Given the description of an element on the screen output the (x, y) to click on. 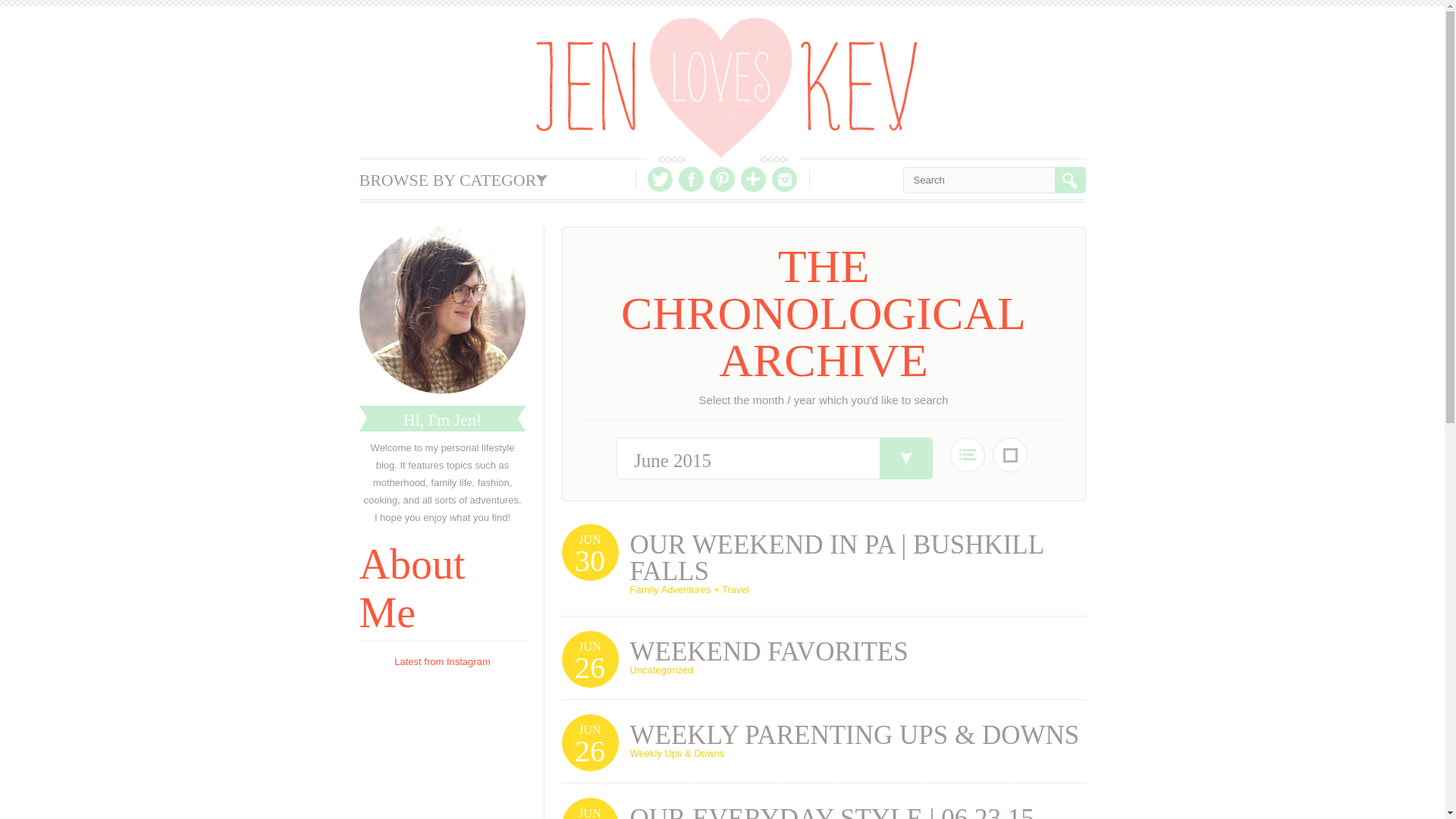
Twitter (659, 179)
Jen Loves Kev (726, 87)
search (1069, 180)
BROWSE BY CATEGORY (453, 179)
Jen Loves Kev (726, 87)
Instagram (783, 179)
Facebook (690, 179)
Pinterest (722, 179)
Bloglovin (753, 179)
search (1069, 180)
June 2015 (782, 458)
